Given the description of an element on the screen output the (x, y) to click on. 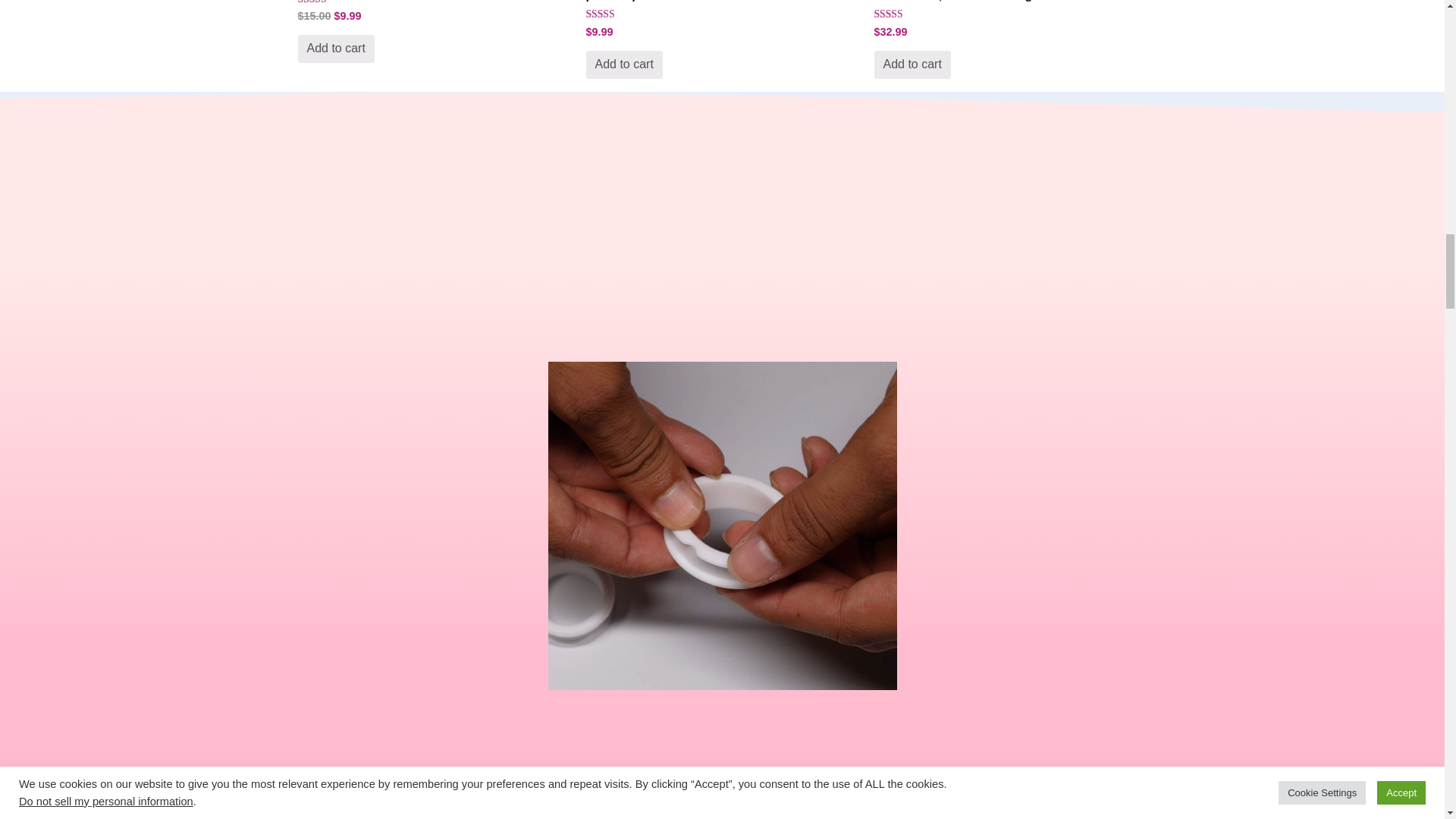
Phimosis Ring In Hand - Treatphimosis.com (721, 525)
